Given the description of an element on the screen output the (x, y) to click on. 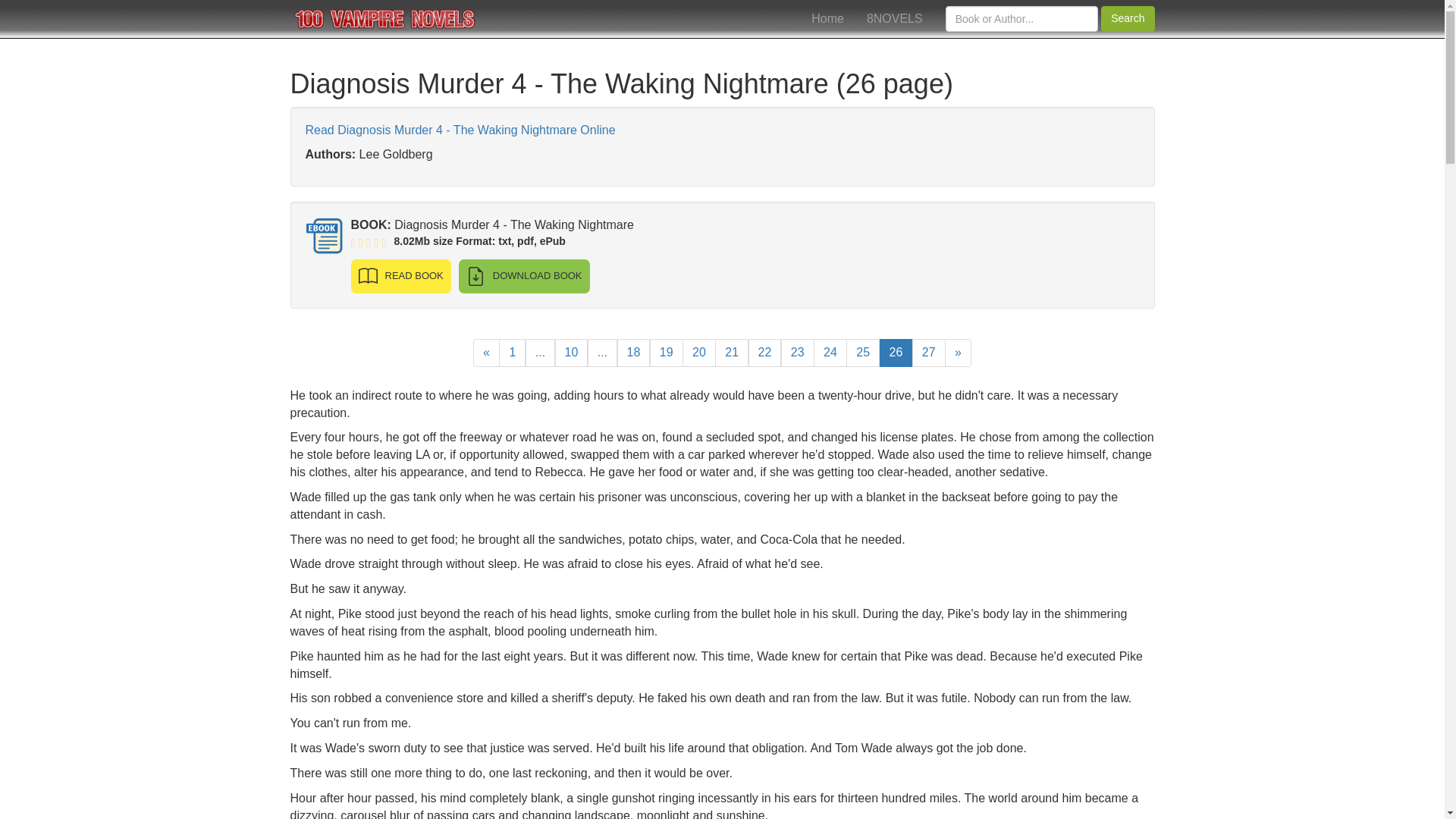
21 (731, 352)
22 (764, 352)
Read Diagnosis Murder 4 - The Waking Nightmare Online (459, 129)
26 (895, 352)
24 (830, 352)
1 (512, 352)
READ BOOK (399, 276)
DOWNLOAD BOOK (523, 276)
10 (571, 352)
23 (796, 352)
18 (633, 352)
20 (699, 352)
Home (827, 18)
27 (928, 352)
Search (1127, 18)
